Given the description of an element on the screen output the (x, y) to click on. 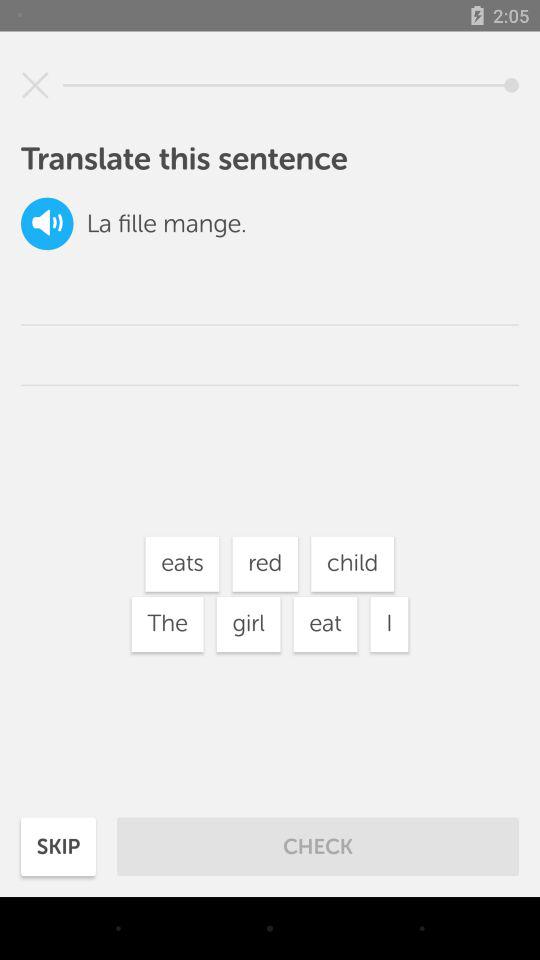
scroll until the i item (389, 624)
